Given the description of an element on the screen output the (x, y) to click on. 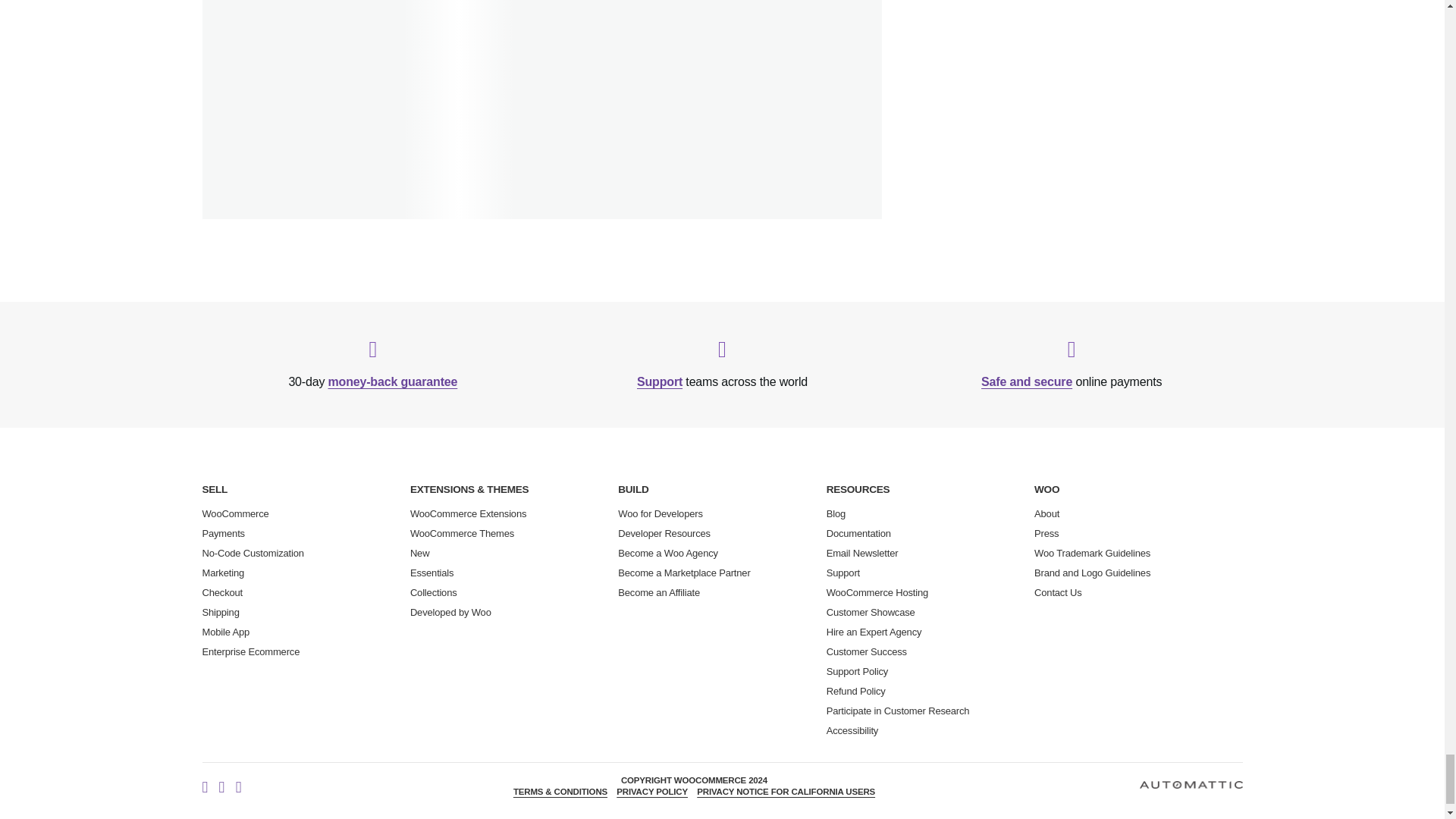
Become an Affiliate (658, 592)
Enterprise Ecommerce (250, 651)
Support (659, 381)
Developer Resources (663, 532)
Become a Marketplace Partner (683, 572)
WooCommerce Themes (461, 532)
Payments (223, 532)
Safe and secure (1026, 381)
Mobile App (225, 632)
New (419, 552)
Essentials (432, 572)
Become a Woo Agency (667, 552)
Marketing (223, 572)
Checkout (222, 592)
No-Code Customization (252, 552)
